Given the description of an element on the screen output the (x, y) to click on. 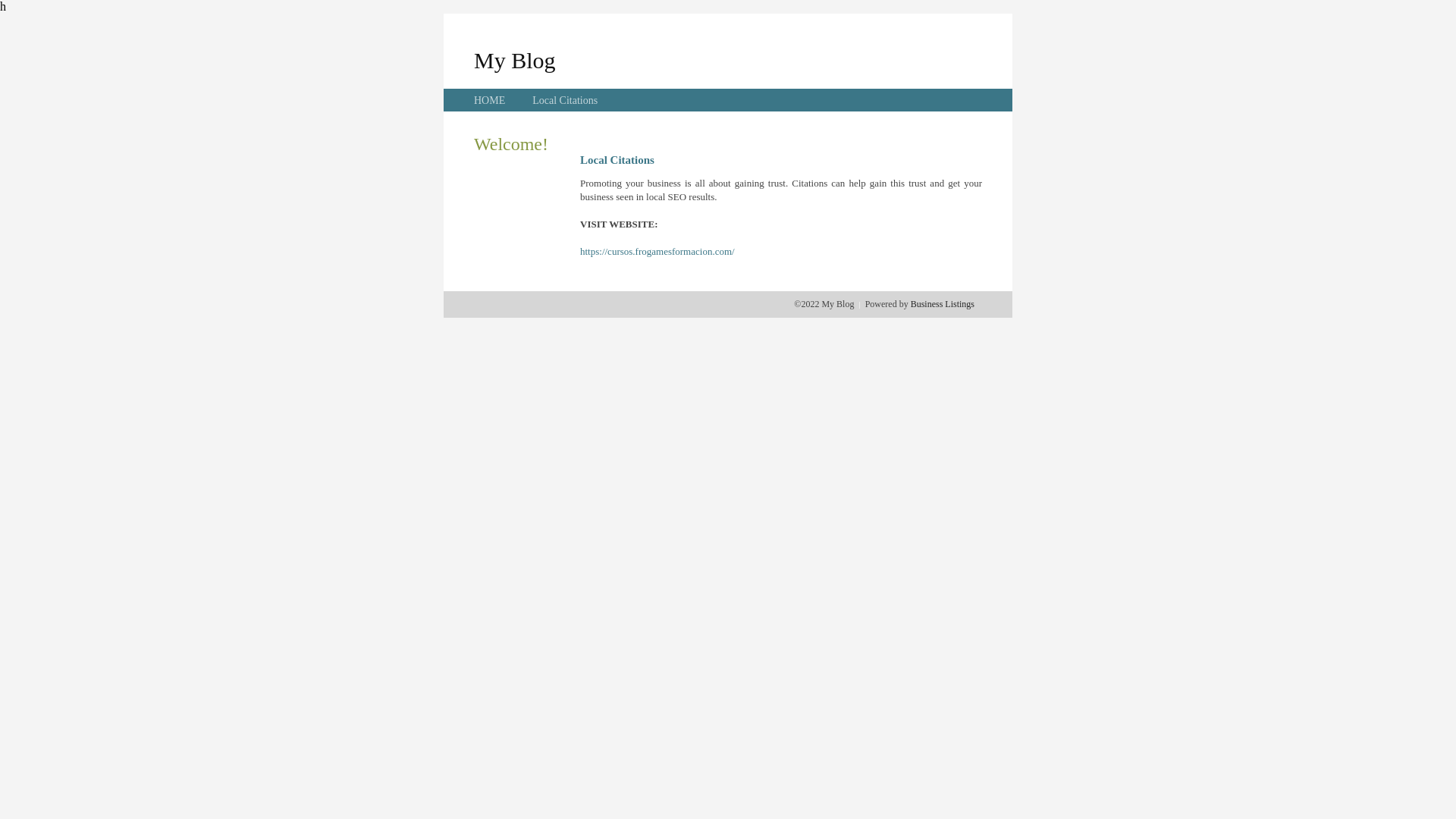
Local Citations Element type: text (564, 100)
My Blog Element type: text (514, 59)
https://cursos.frogamesformacion.com/ Element type: text (657, 251)
Business Listings Element type: text (942, 303)
HOME Element type: text (489, 100)
